Given the description of an element on the screen output the (x, y) to click on. 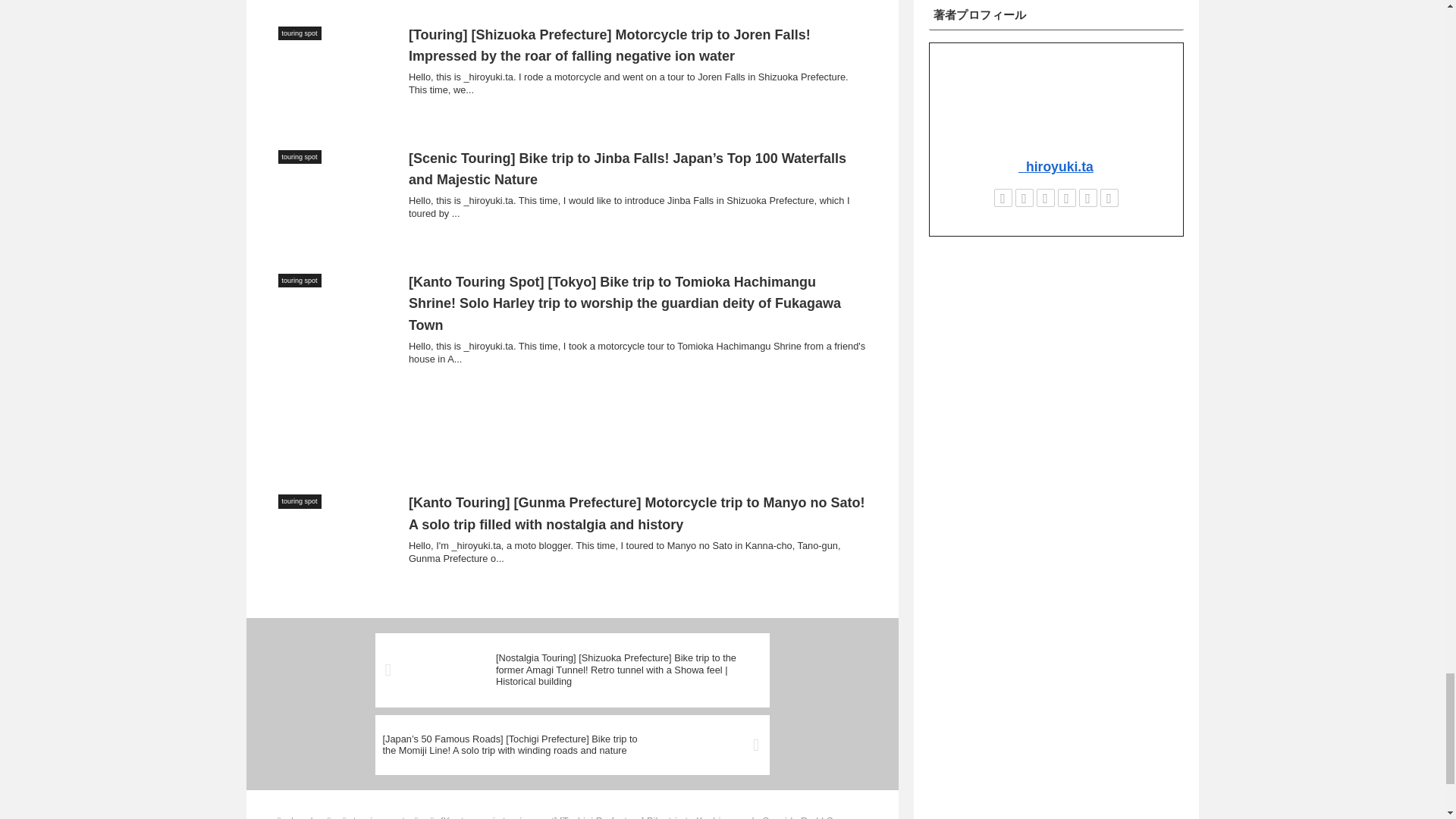
touring spot (378, 816)
